Given the description of an element on the screen output the (x, y) to click on. 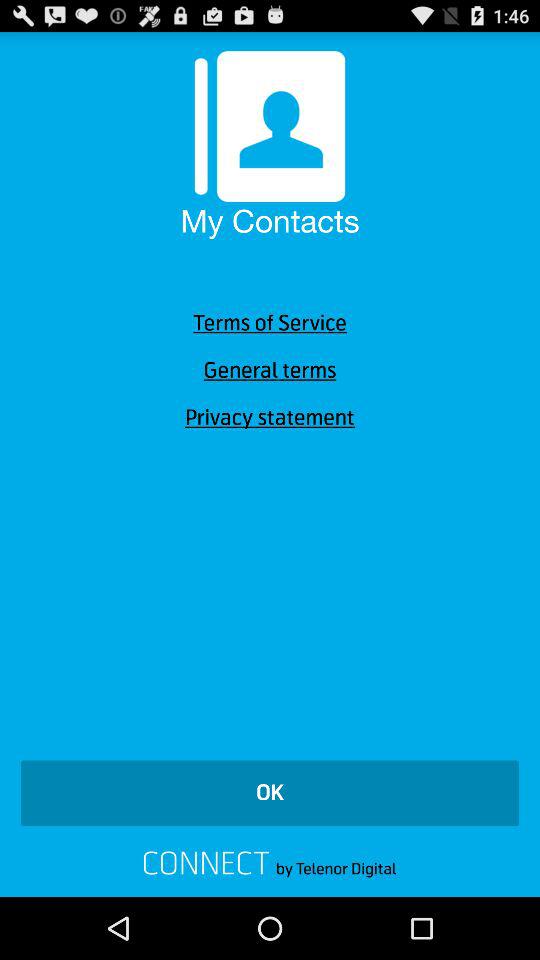
press item below privacy statement (270, 793)
